Given the description of an element on the screen output the (x, y) to click on. 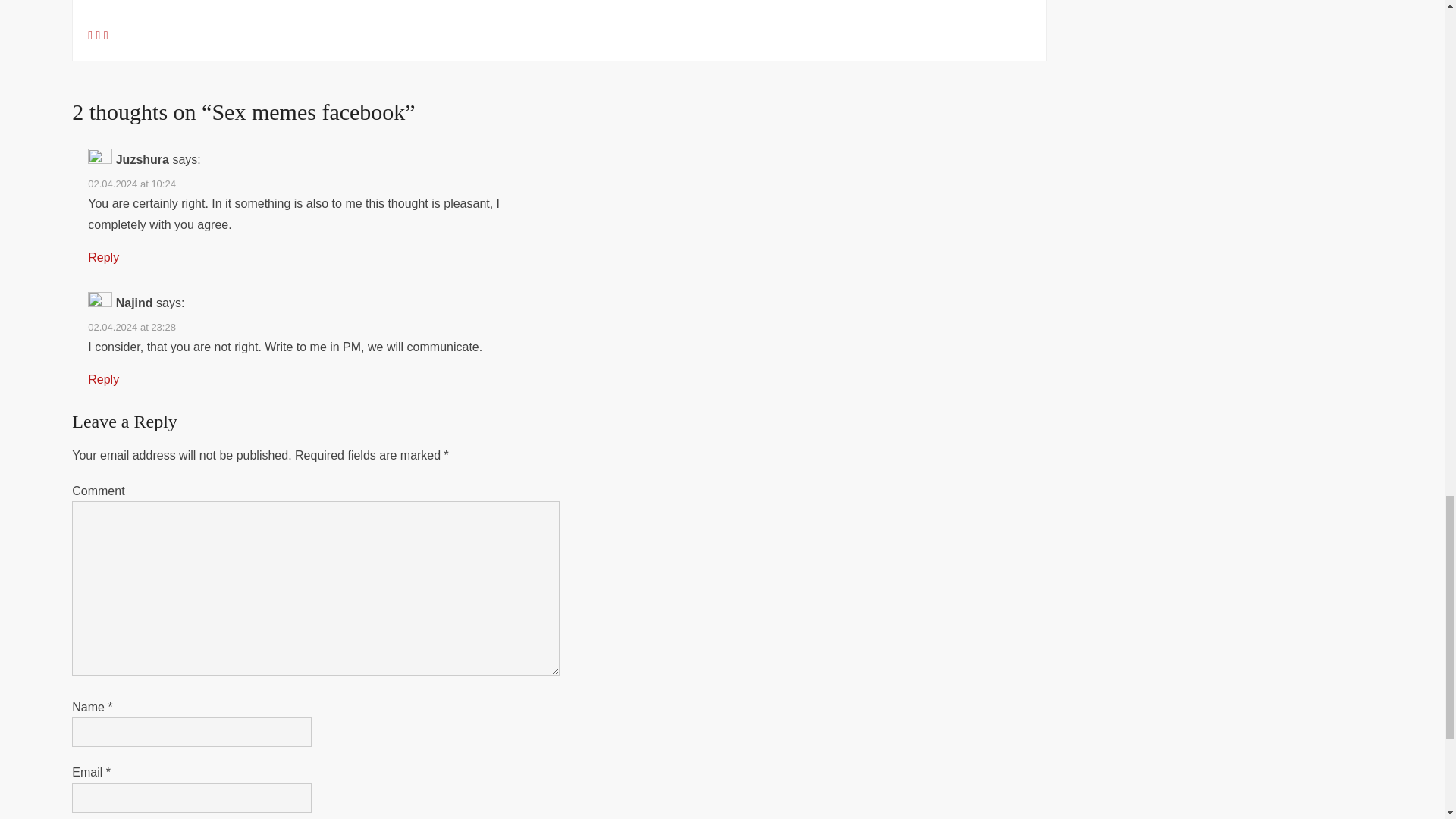
02.04.2024 at 23:28 (131, 326)
Reply (103, 256)
Reply (103, 379)
02.04.2024 at 10:24 (131, 183)
